Given the description of an element on the screen output the (x, y) to click on. 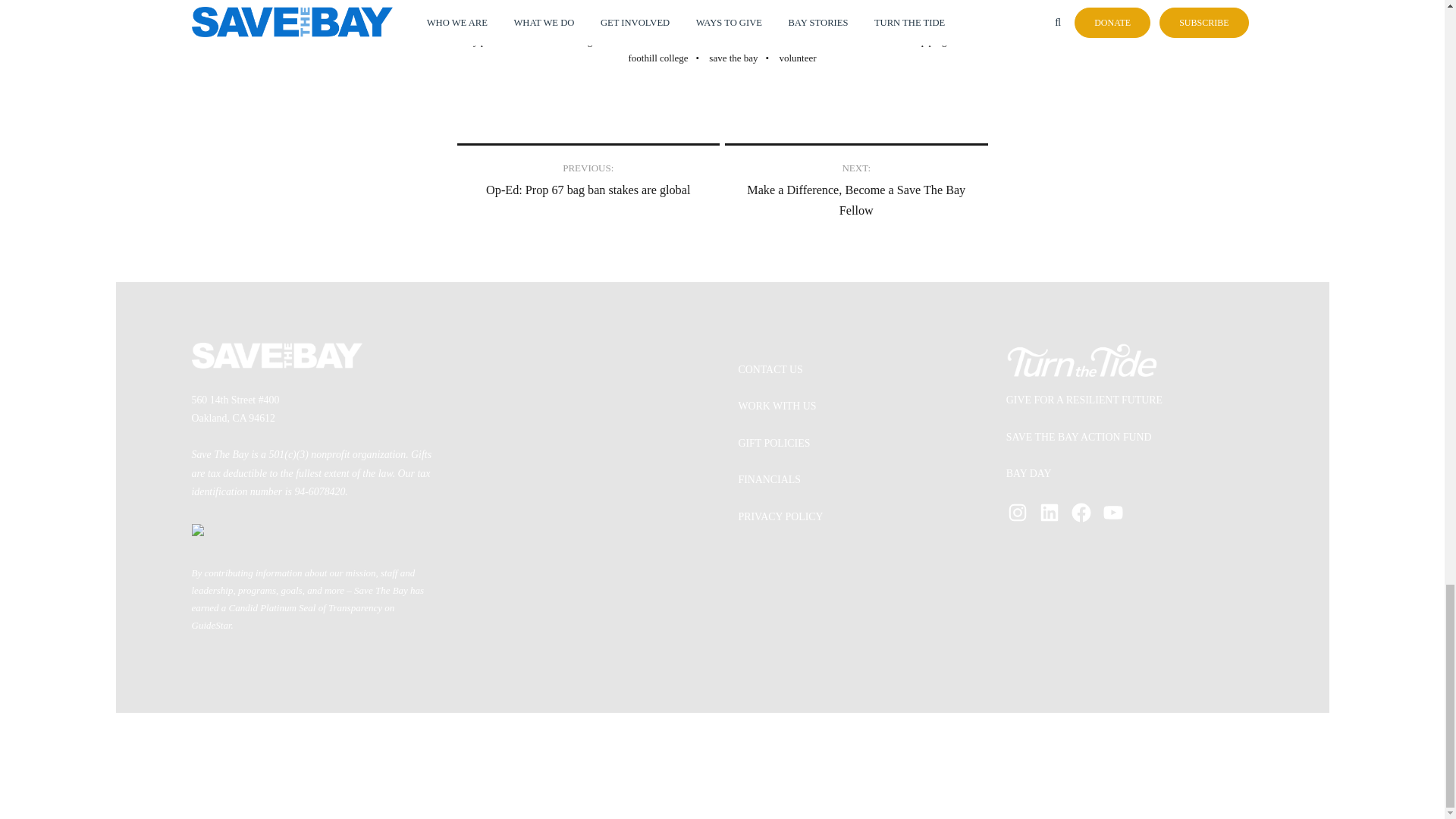
Artisan Themes - Modular WordPress Themes (758, 765)
